Given the description of an element on the screen output the (x, y) to click on. 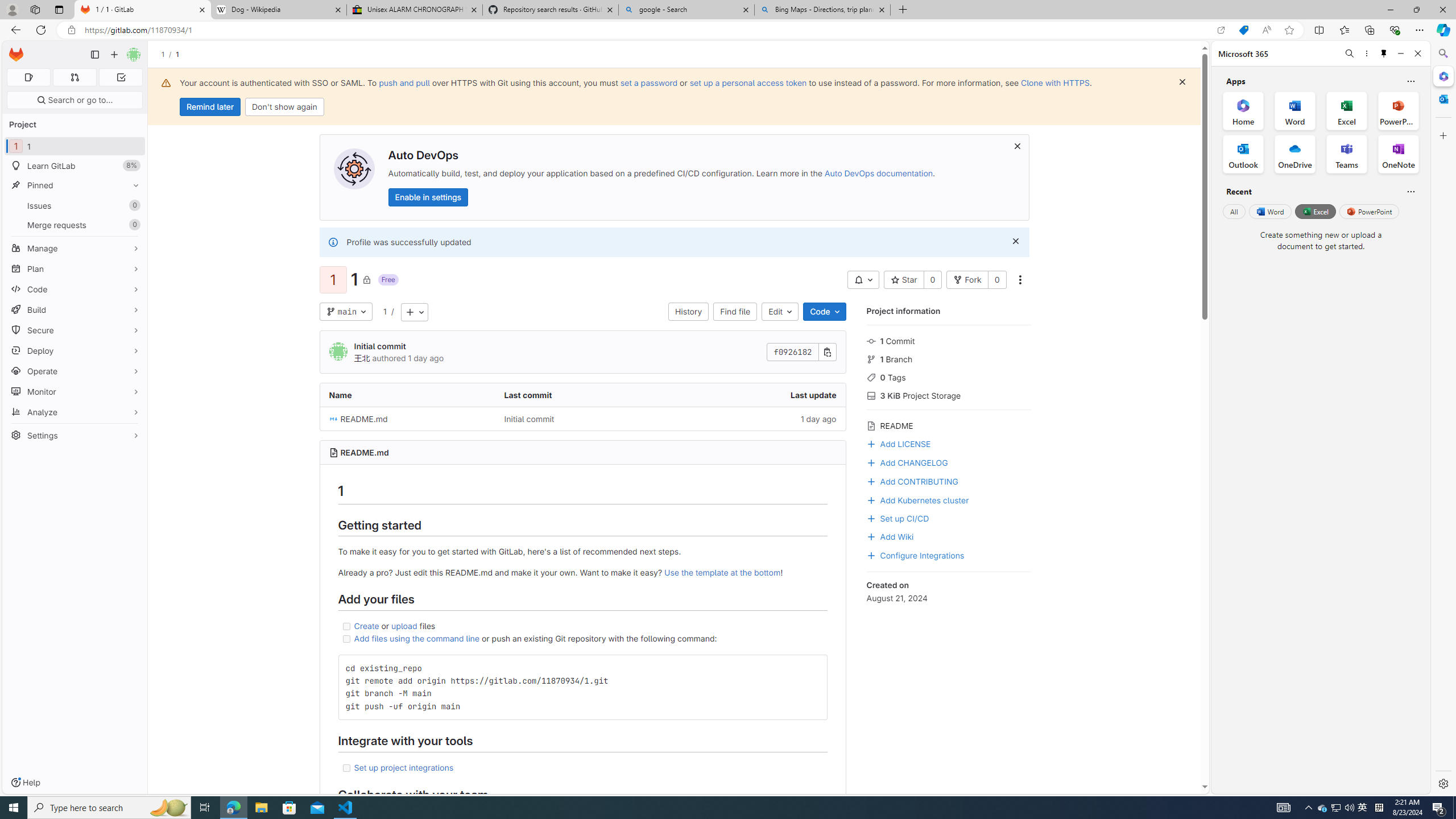
main (345, 311)
Secure (74, 330)
Merge requests 0 (74, 224)
Merge requests 0 (74, 76)
Find file (735, 311)
Pinned (74, 185)
Settings (74, 433)
Add CONTRIBUTING (948, 480)
Issues0 (74, 205)
Workspaces (34, 9)
Class: tree-item (582, 418)
Close tab (881, 9)
Add CHANGELOG (948, 461)
Enable in settings (427, 197)
Deploy (74, 350)
